Given the description of an element on the screen output the (x, y) to click on. 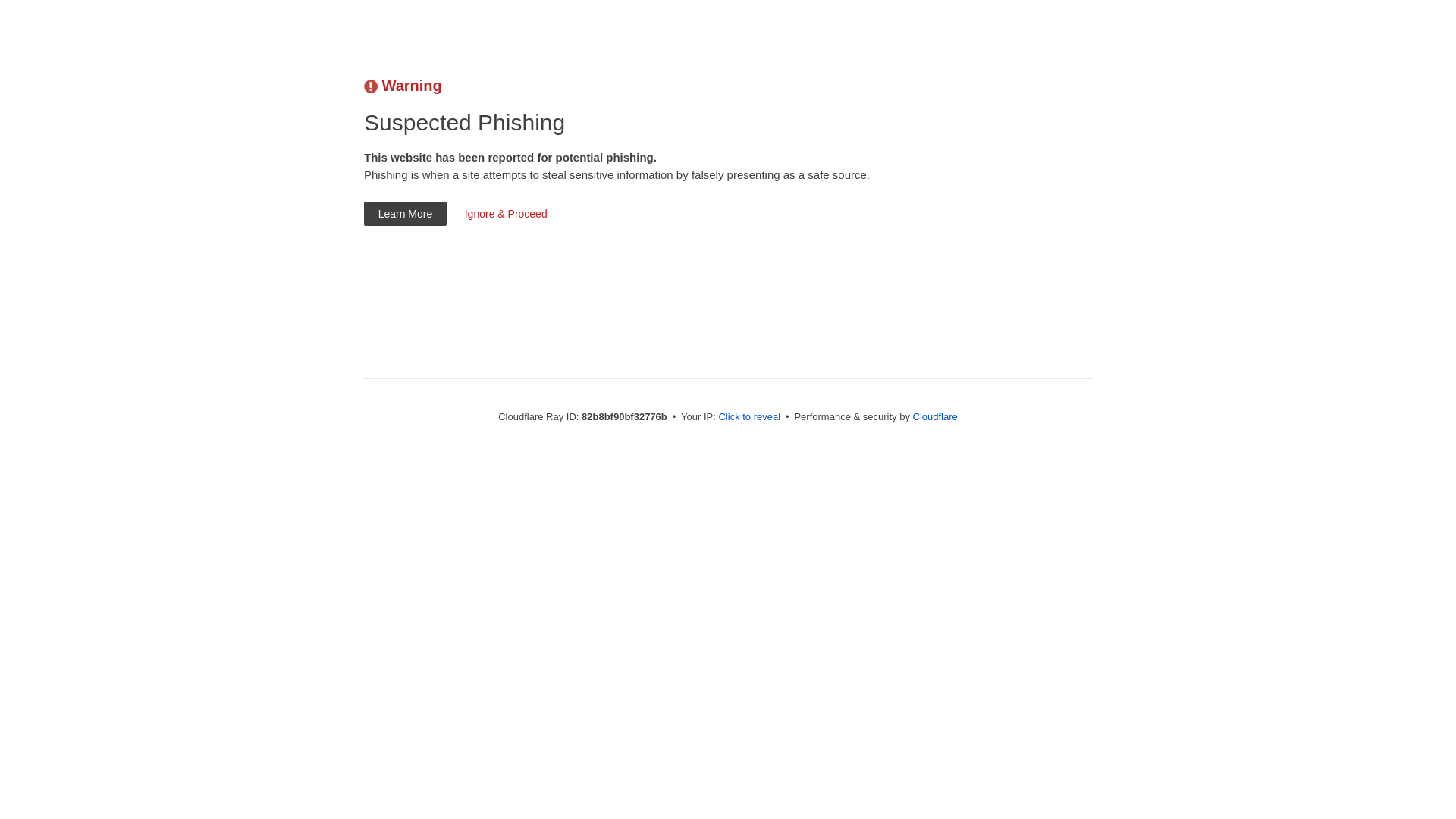
Ignore & Proceed Element type: text (505, 213)
Cloudflare Element type: text (935, 416)
Learn More Element type: text (405, 213)
Click to reveal Element type: text (749, 416)
